Given the description of an element on the screen output the (x, y) to click on. 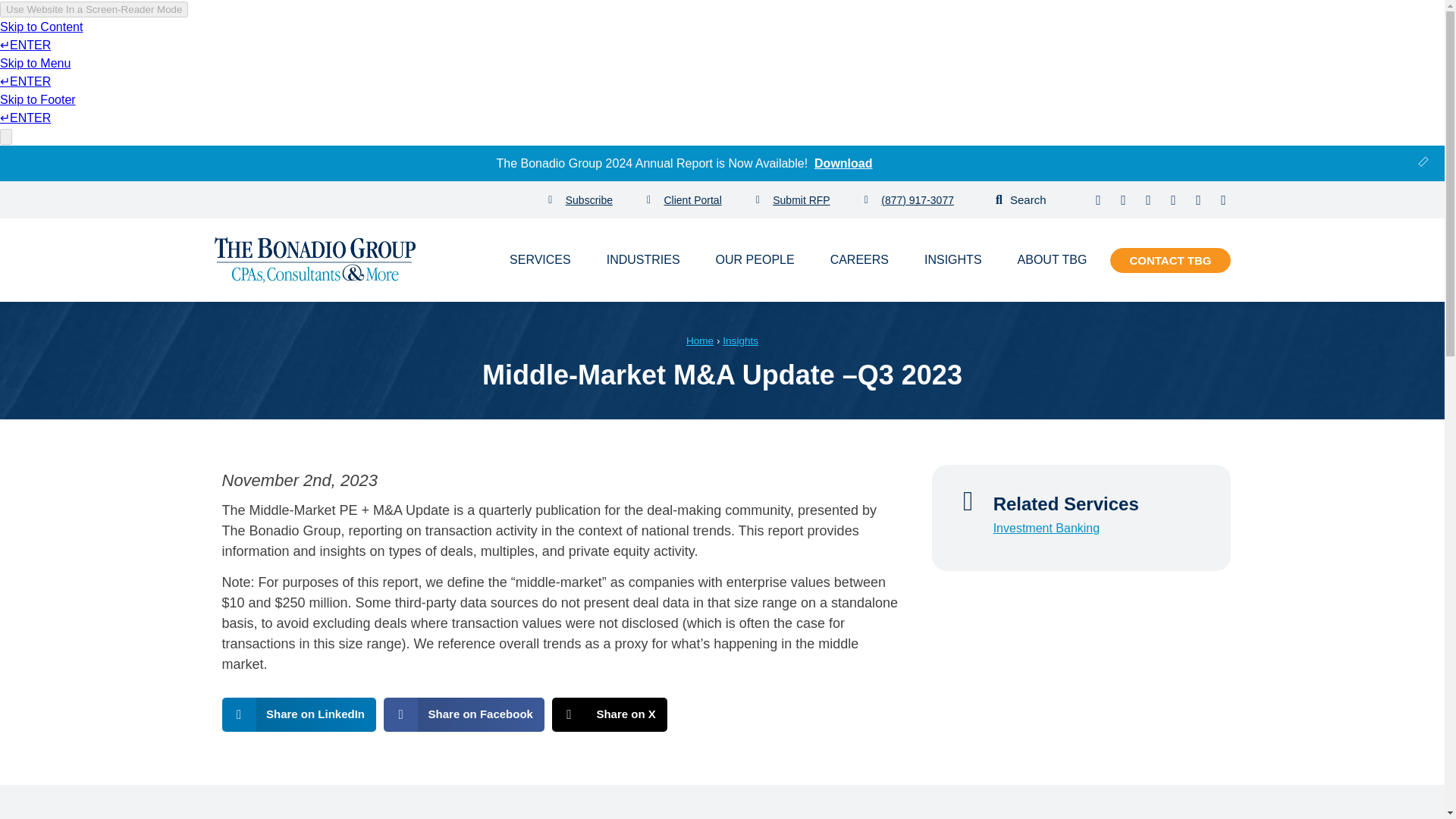
Subscribe (580, 199)
SERVICES (539, 259)
INDUSTRIES (643, 259)
Download (842, 162)
Client Portal (684, 199)
Submit RFP (792, 199)
